Given the description of an element on the screen output the (x, y) to click on. 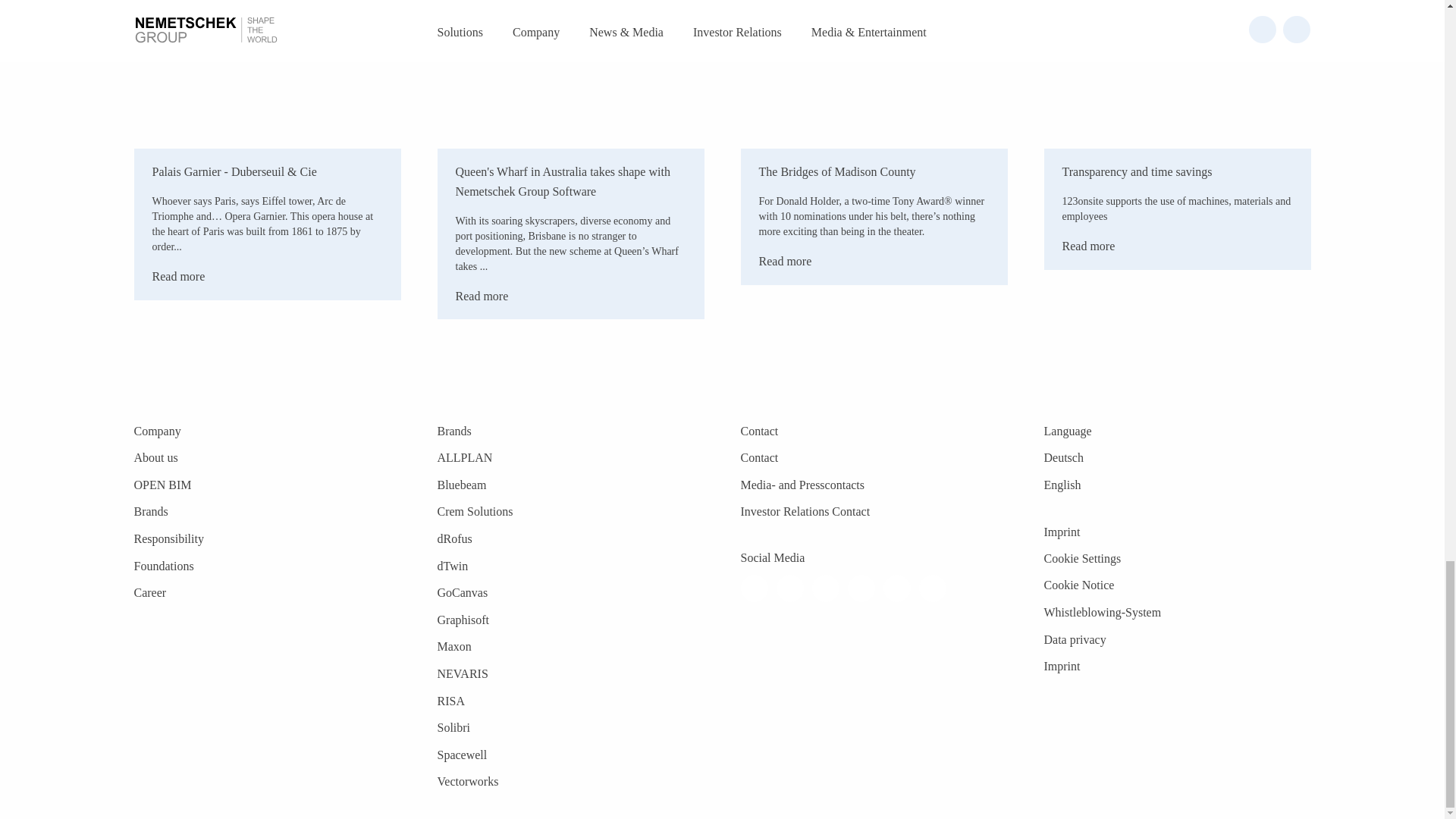
Queens Wharf Brisbane  (569, 74)
